Given the description of an element on the screen output the (x, y) to click on. 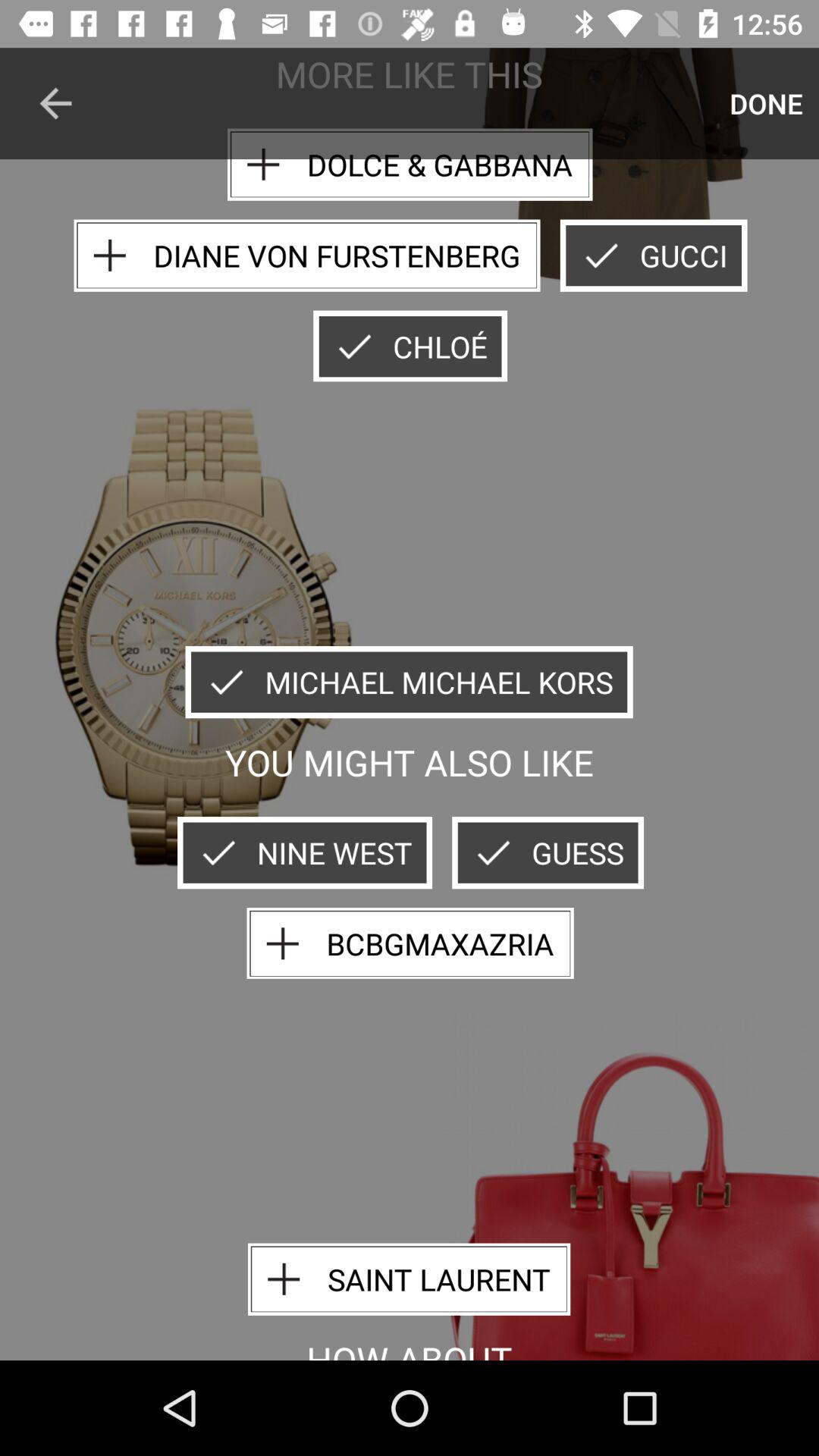
turn off the michael michael kors (409, 682)
